Given the description of an element on the screen output the (x, y) to click on. 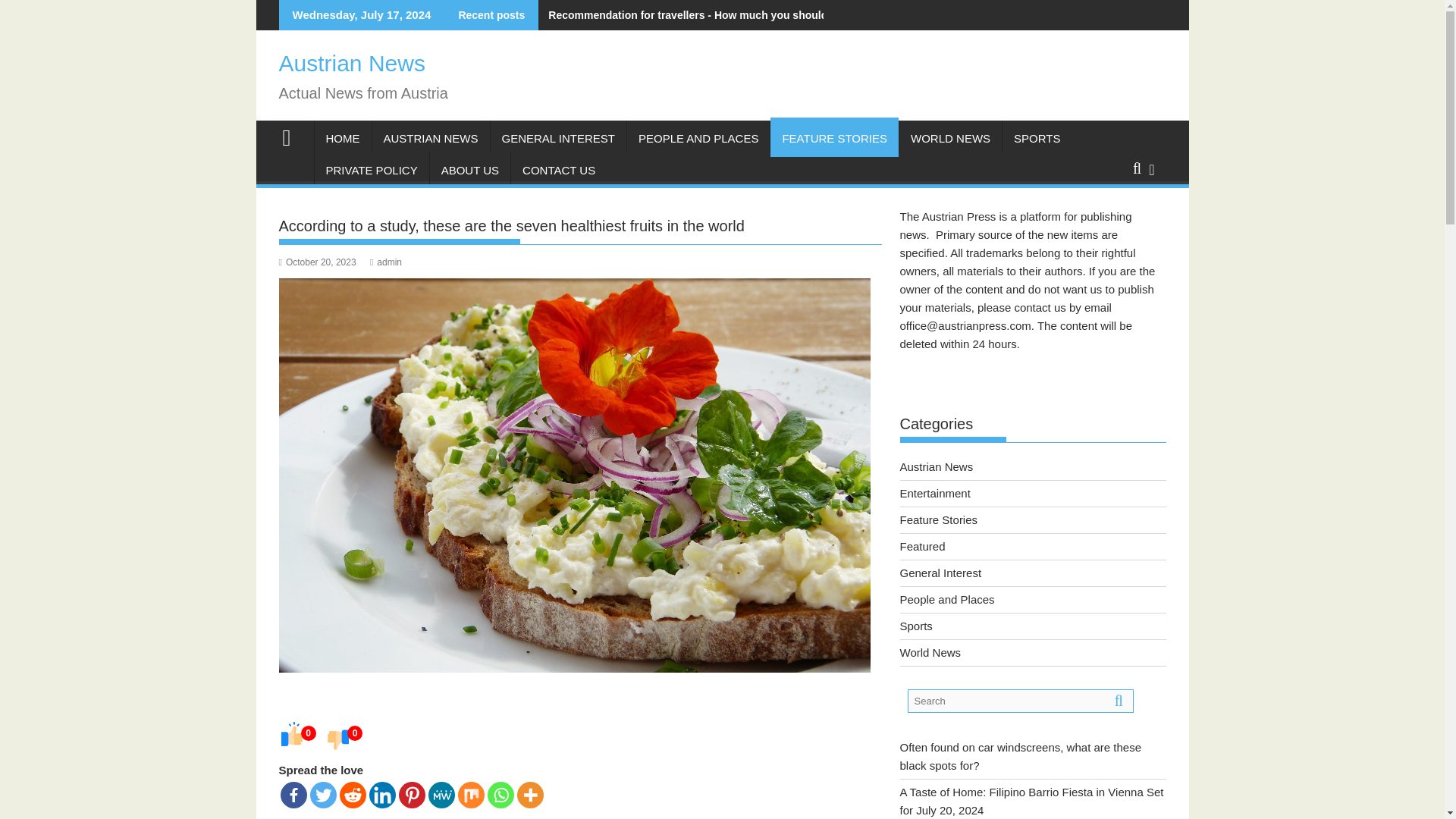
Twitter (322, 795)
MeWe (441, 795)
Whatsapp (499, 795)
Austrian News (293, 136)
CONTACT US (559, 170)
Austrian News (352, 63)
PRIVATE POLICY (371, 170)
WORLD NEWS (950, 138)
Facebook (294, 795)
Linkedin (381, 795)
FEATURE STORIES (834, 138)
Mix (471, 795)
HOME (342, 138)
